Given the description of an element on the screen output the (x, y) to click on. 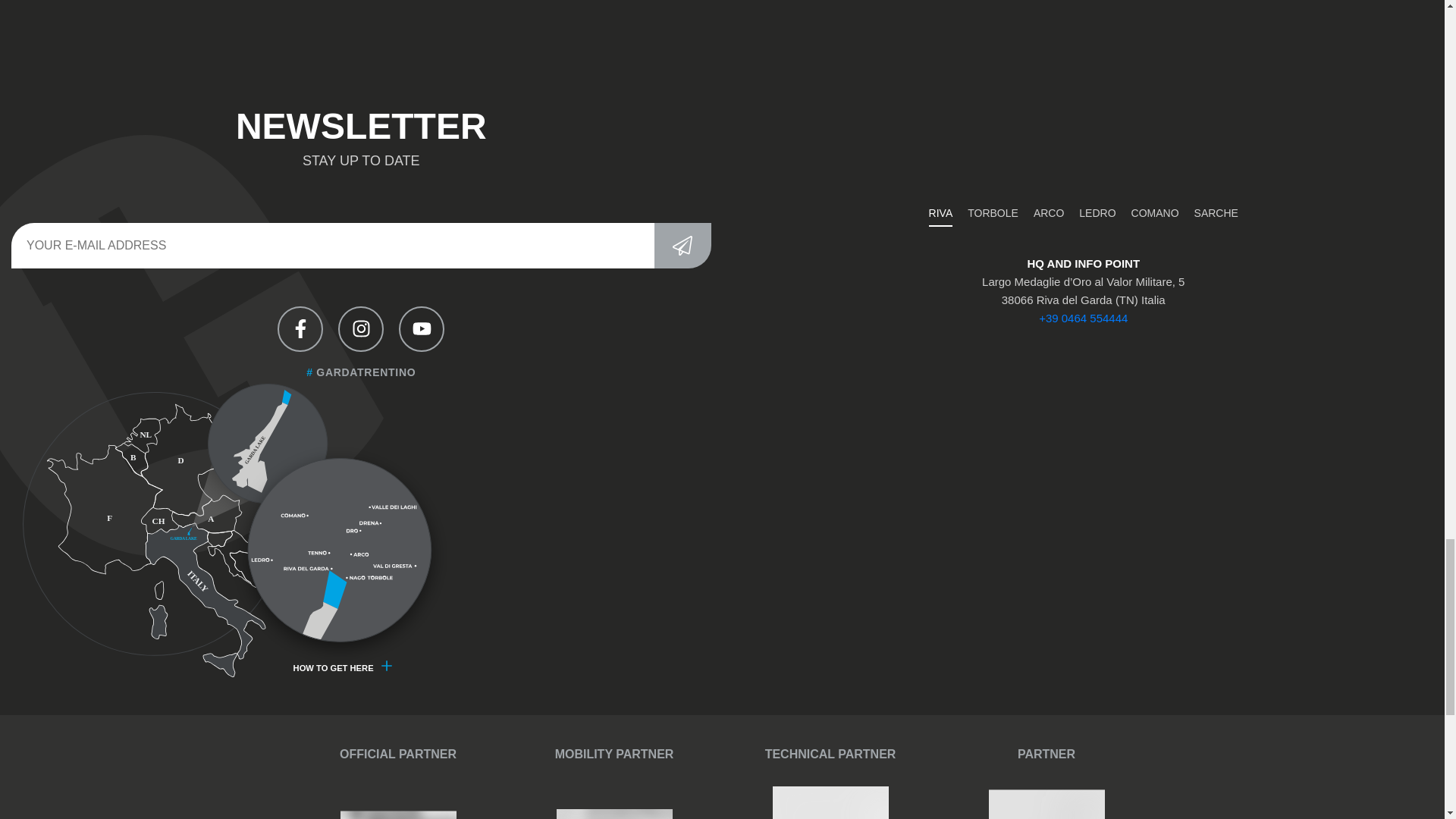
AutoIndustriale Logo (614, 813)
RIVA (940, 213)
HOW TO GET HERE (343, 672)
